Given the description of an element on the screen output the (x, y) to click on. 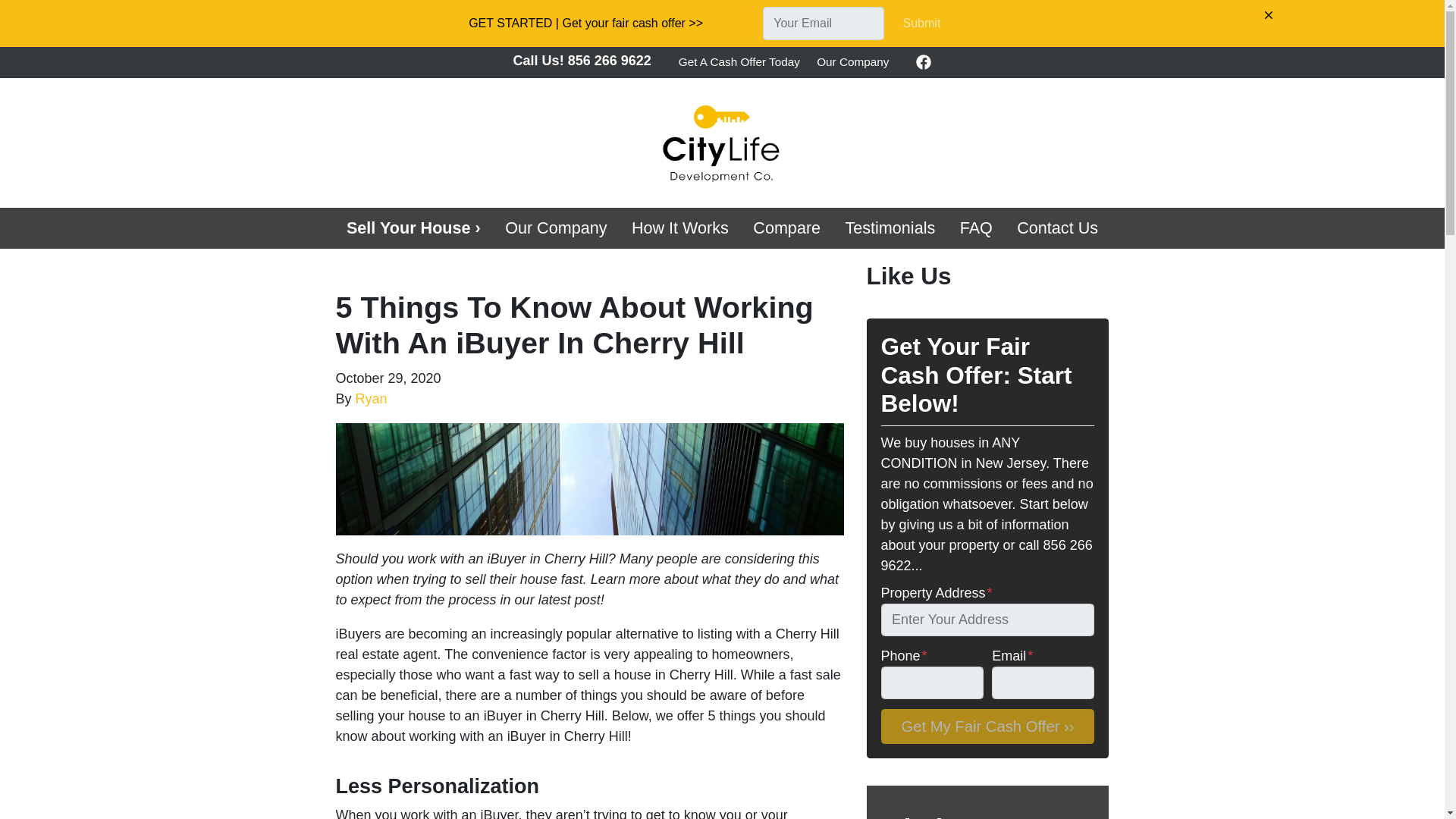
Compare (786, 228)
Submit (921, 23)
FAQ (975, 228)
Our Company (556, 228)
How It Works (680, 228)
Contact Us (1056, 228)
Facebook (923, 61)
FAQ (975, 228)
Submit (921, 23)
Get A Cash Offer Today (738, 61)
Testimonials (889, 228)
Our Company (556, 228)
Ryan (371, 398)
Compare (786, 228)
